Given the description of an element on the screen output the (x, y) to click on. 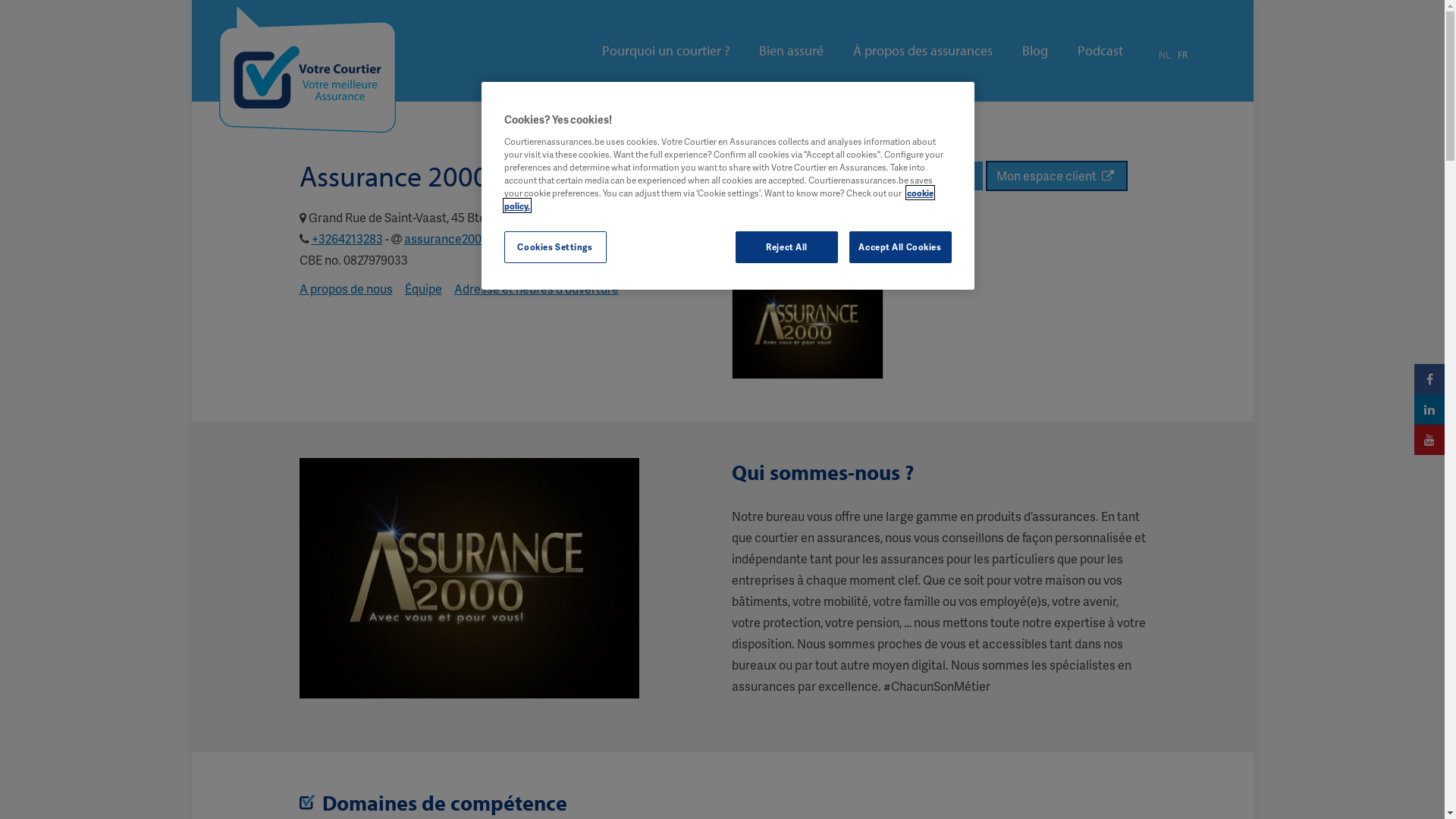
Mon espace client Element type: text (1056, 175)
assurance2000@assurance2000.be Element type: text (500, 238)
Pourquoi un courtier ? Element type: text (665, 50)
+3264213283 Element type: text (346, 238)
Podcast Element type: text (1099, 50)
Documents Element type: text (939, 175)
Accept All Cookies Element type: text (900, 247)
Adresse et heures d'ouverture Element type: text (535, 288)
A propos de nous Element type: text (345, 288)
FR Element type: text (1181, 54)
Contact Element type: text (863, 175)
Blog Element type: text (1034, 50)
Cookies Settings Element type: text (554, 247)
Reject All Element type: text (786, 247)
cookie policy. Element type: text (717, 198)
NL Element type: text (1164, 54)
